Given the description of an element on the screen output the (x, y) to click on. 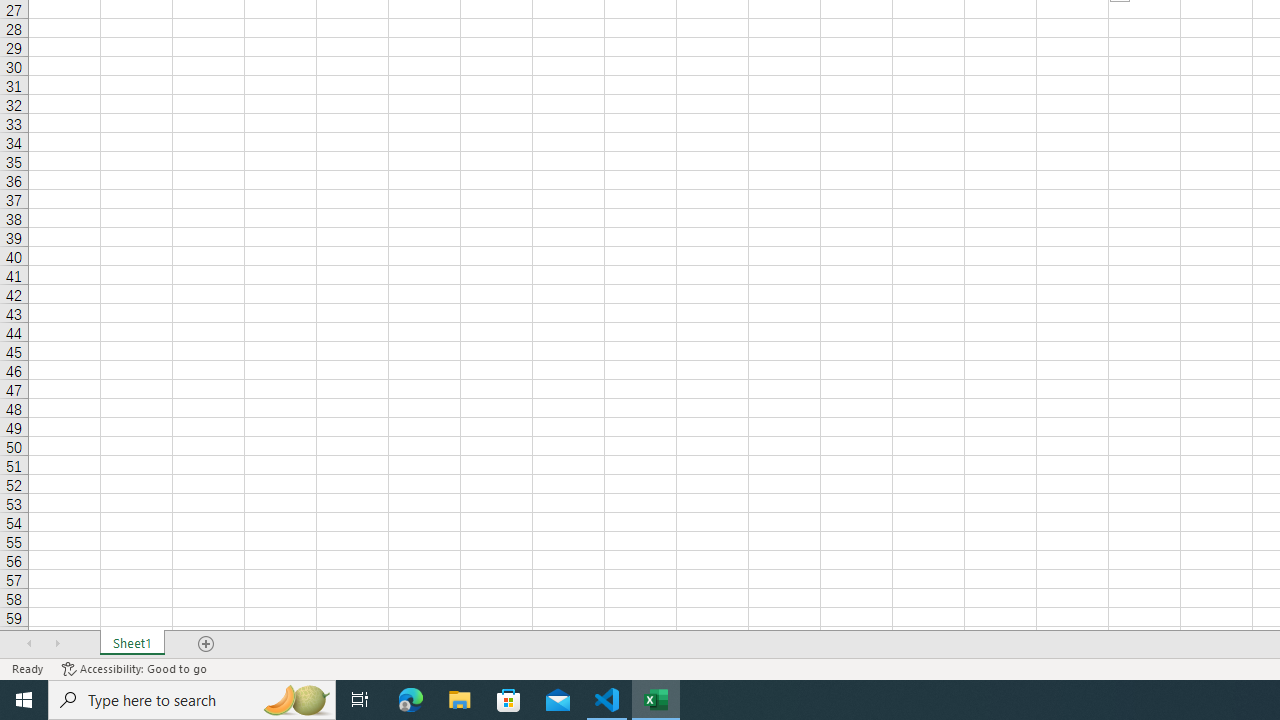
Sheet1 (132, 644)
Scroll Right (57, 644)
Scroll Left (29, 644)
Add Sheet (207, 644)
Accessibility Checker Accessibility: Good to go (134, 668)
